Given the description of an element on the screen output the (x, y) to click on. 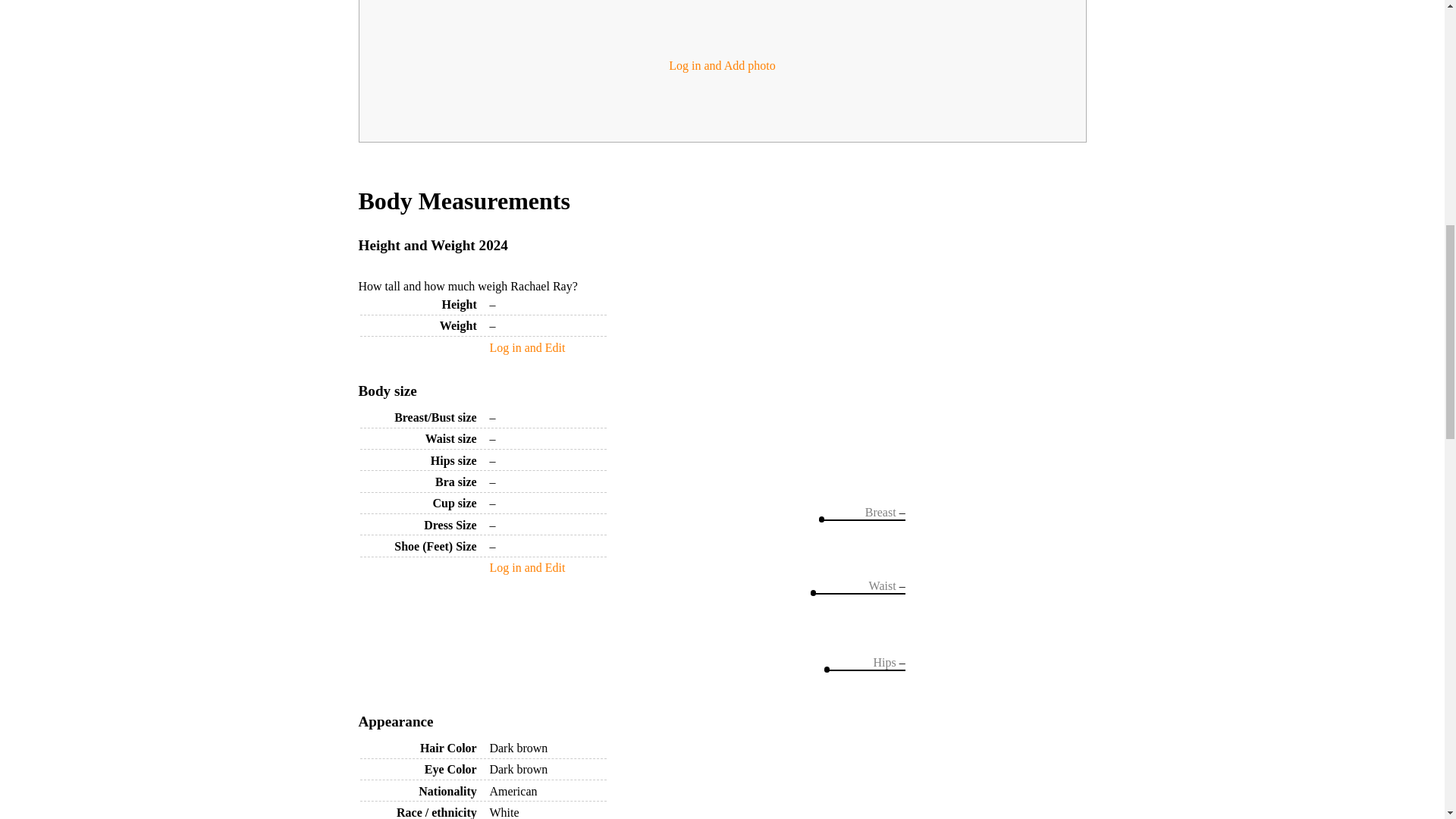
Log in and Edit (526, 567)
Log in and Add photo (721, 65)
Log in and Edit (526, 347)
